Given the description of an element on the screen output the (x, y) to click on. 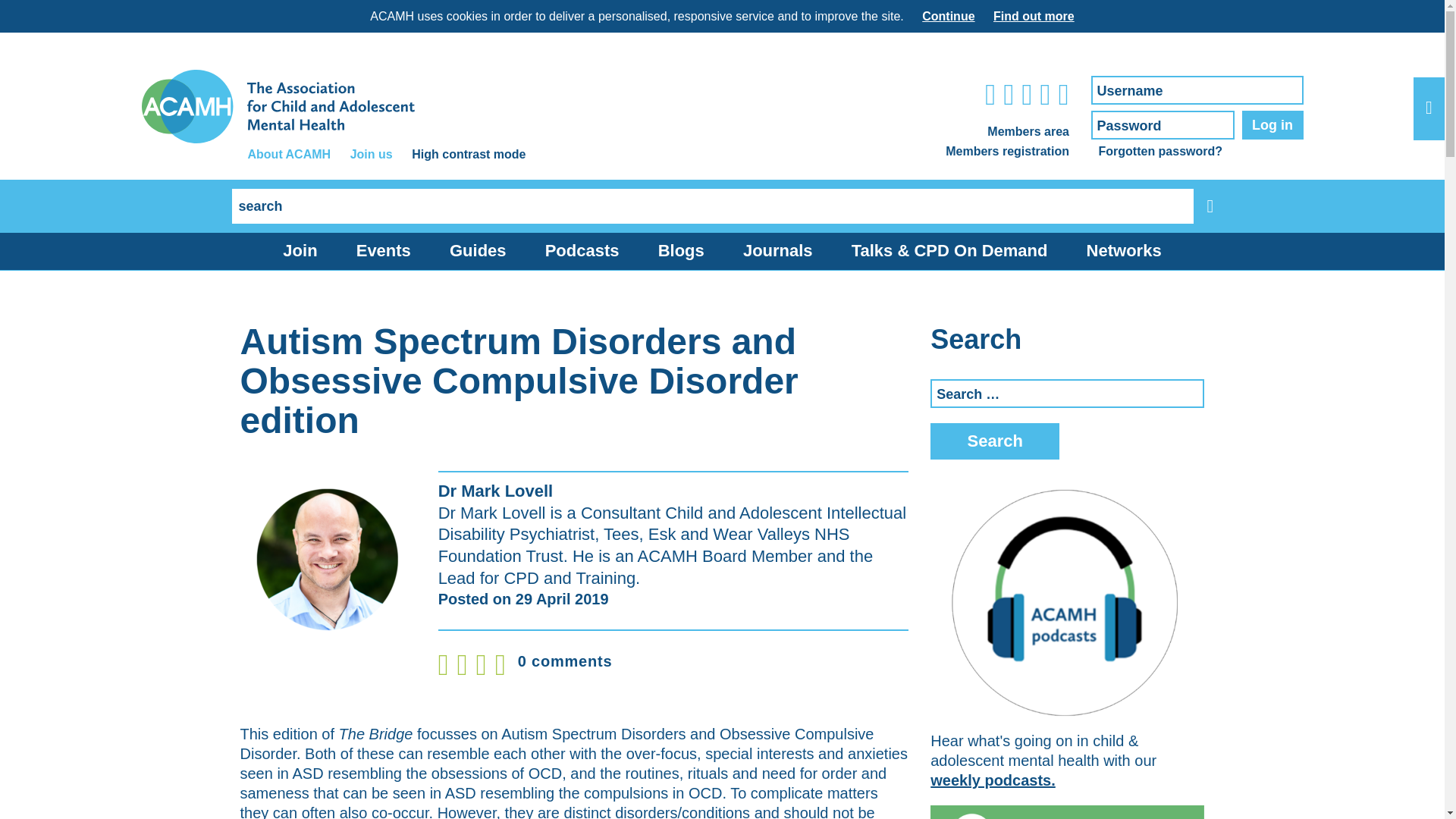
Continue (947, 15)
Find out more (1033, 15)
Search (994, 441)
High contrast mode (468, 154)
Join us (371, 154)
Guides (477, 251)
About ACAMH (288, 154)
Search (994, 441)
Posts by Dr Mark Lovell (495, 490)
Search for: (712, 206)
Join (299, 251)
Blogs (681, 251)
Events (383, 251)
Log in (1272, 124)
Podcasts (582, 251)
